Given the description of an element on the screen output the (x, y) to click on. 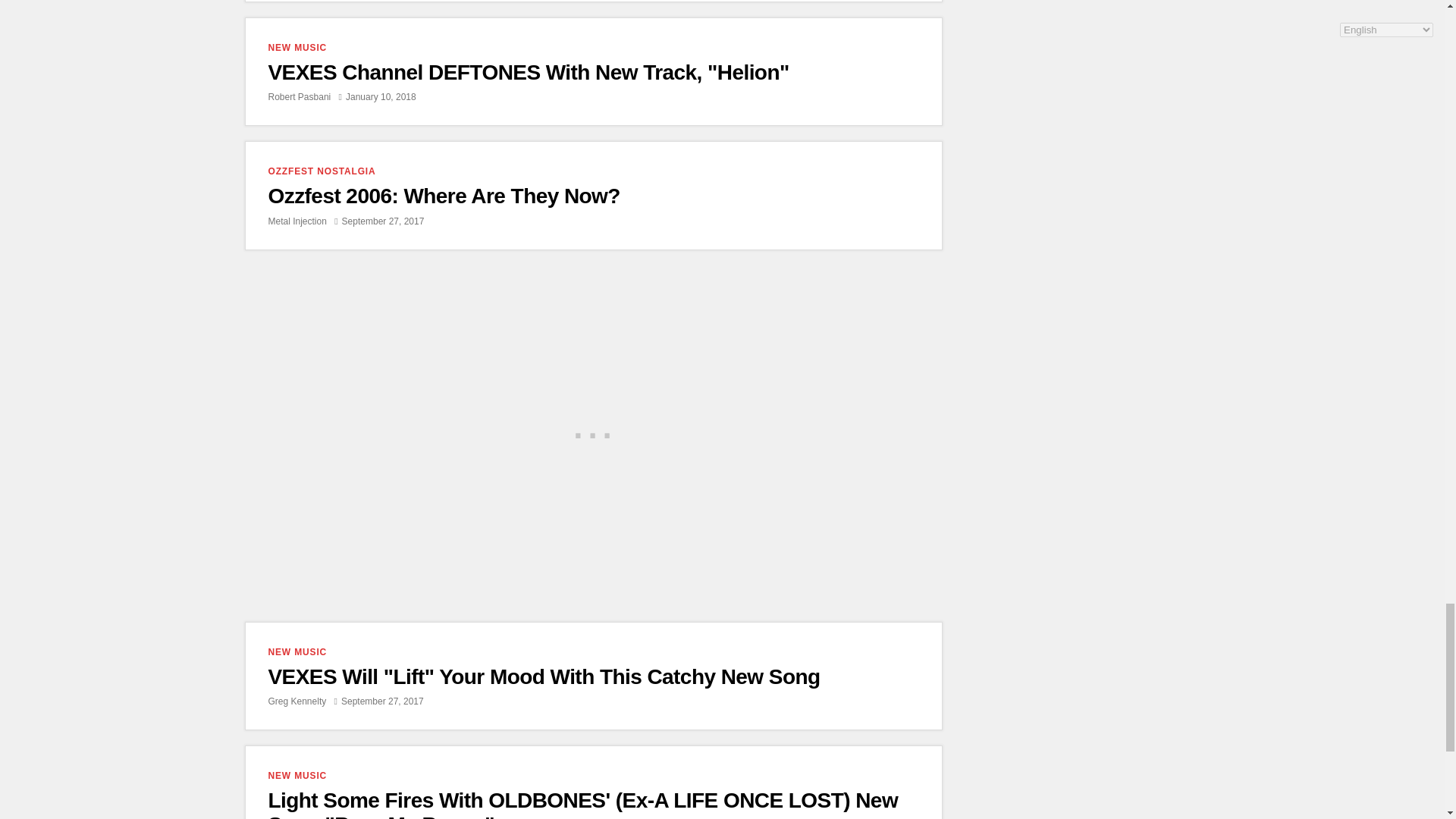
Posts by Metal Injection (296, 221)
Posts by Greg Kennelty (296, 701)
